Given the description of an element on the screen output the (x, y) to click on. 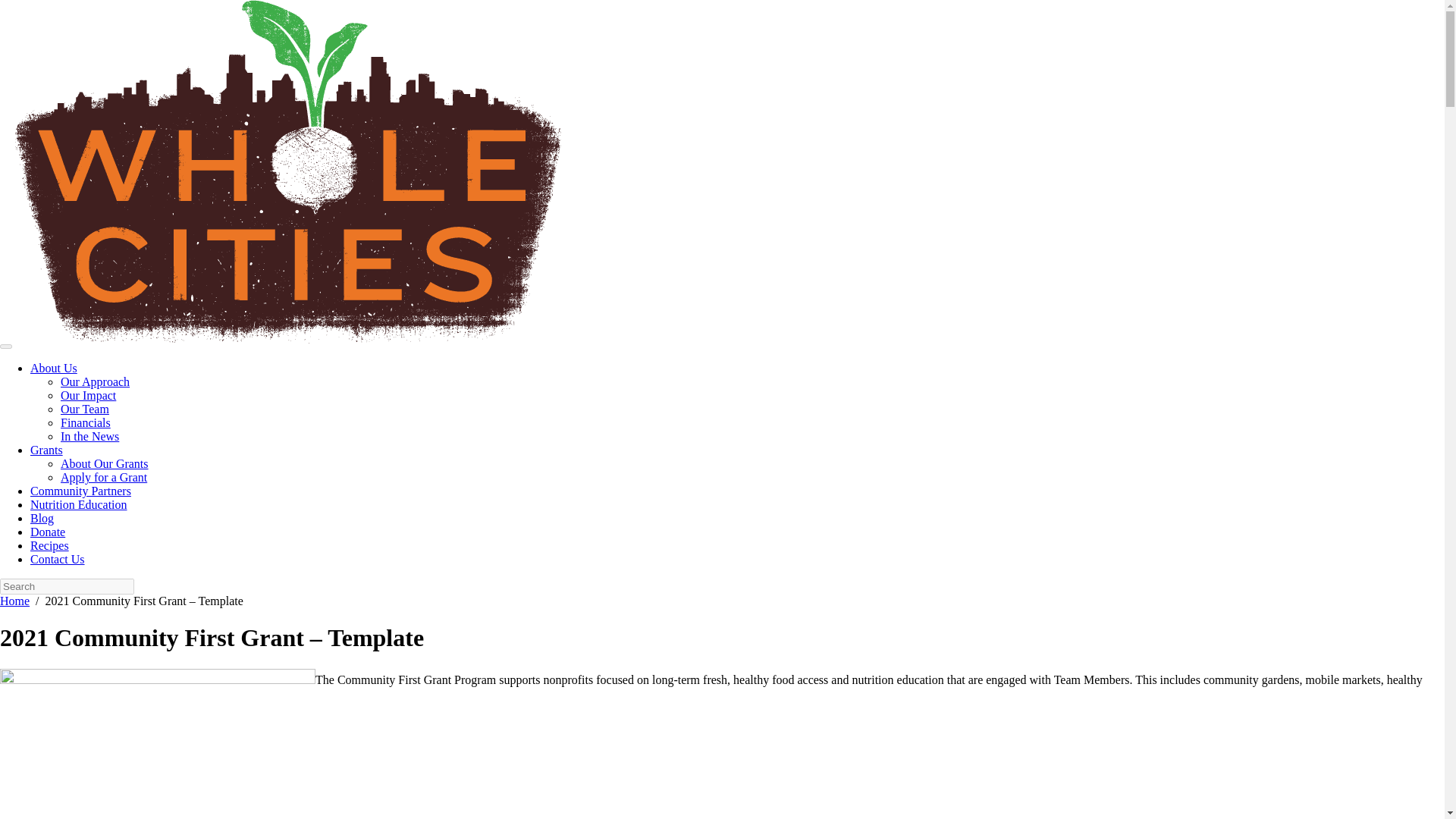
Financials (85, 422)
Our Impact (88, 395)
About Our Grants (104, 463)
Blog (41, 517)
Financials (85, 422)
Grants (46, 449)
Apply for a Grant (104, 477)
Our Approach (95, 381)
About Us (53, 367)
Our Approach (95, 381)
